Given the description of an element on the screen output the (x, y) to click on. 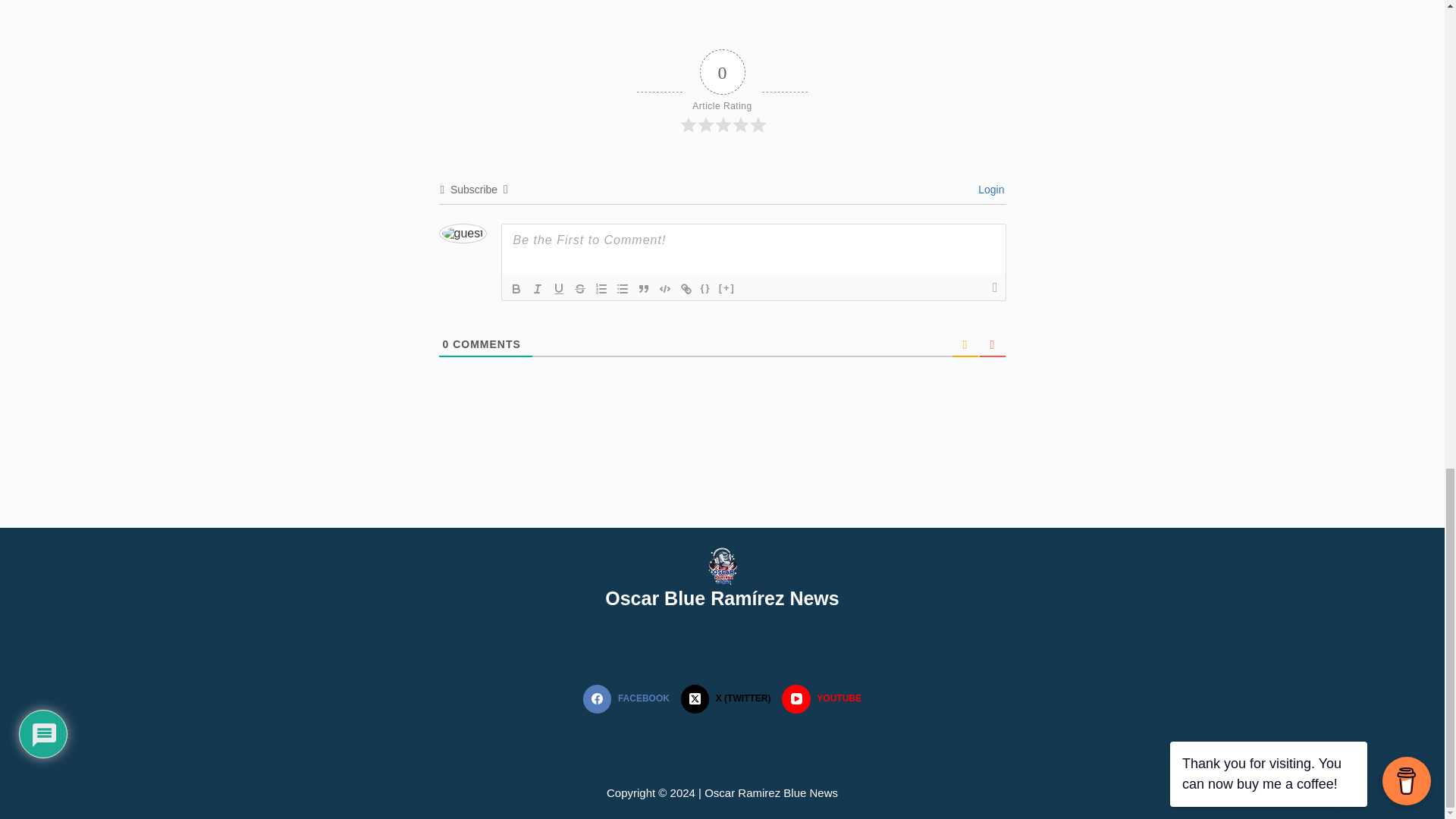
Italic (536, 289)
Source Code (704, 289)
Login (989, 189)
Strike (579, 289)
Link (685, 289)
Unordered List (621, 289)
Spoiler (726, 289)
Underline (558, 289)
Code Block (664, 289)
Bold (515, 289)
Ordered List (600, 289)
Blockquote (642, 289)
